Given the description of an element on the screen output the (x, y) to click on. 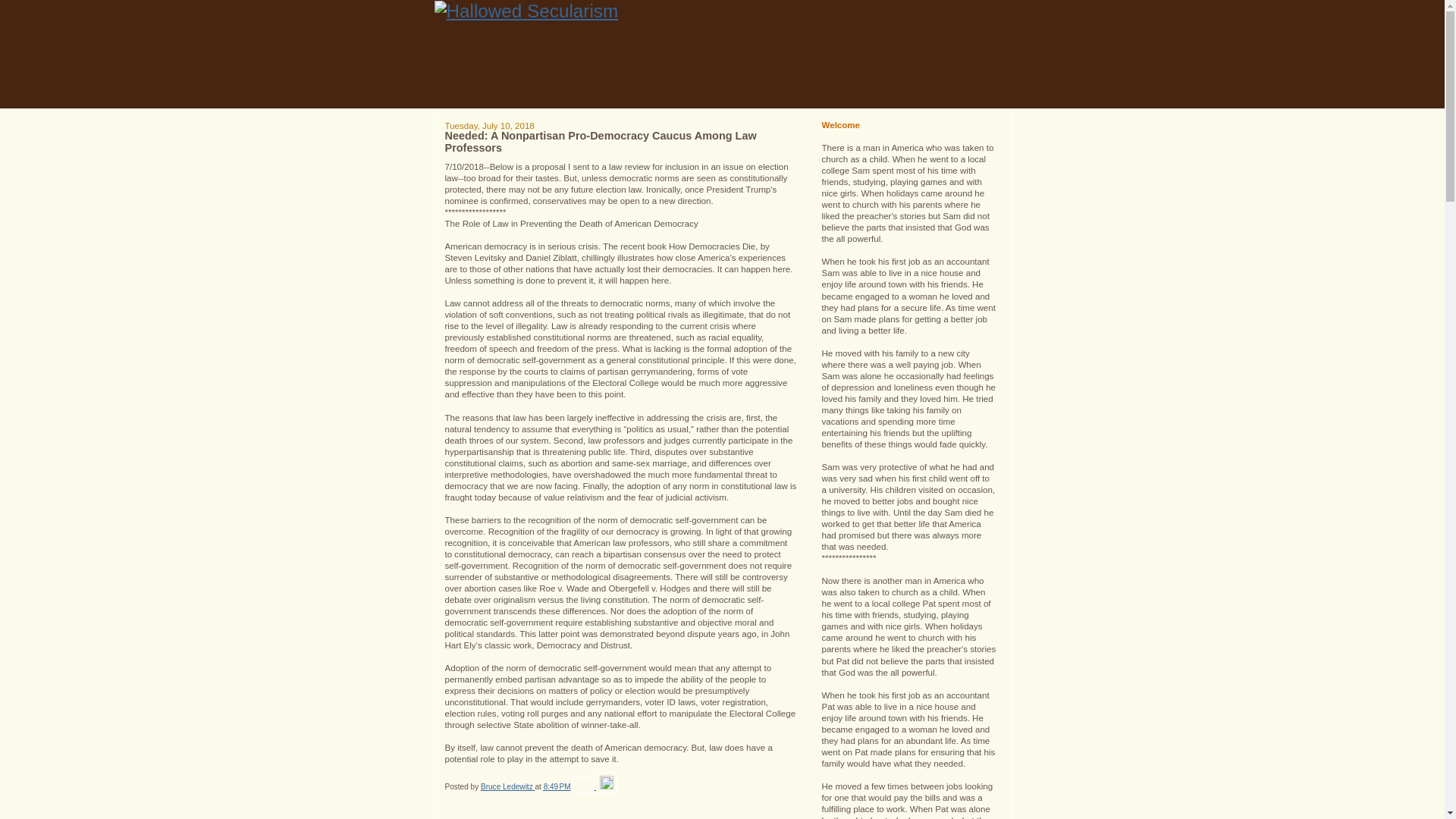
Email Post (583, 786)
Edit Post (606, 786)
author profile (507, 786)
permanent link (556, 786)
Bruce Ledewitz (507, 786)
